Given the description of an element on the screen output the (x, y) to click on. 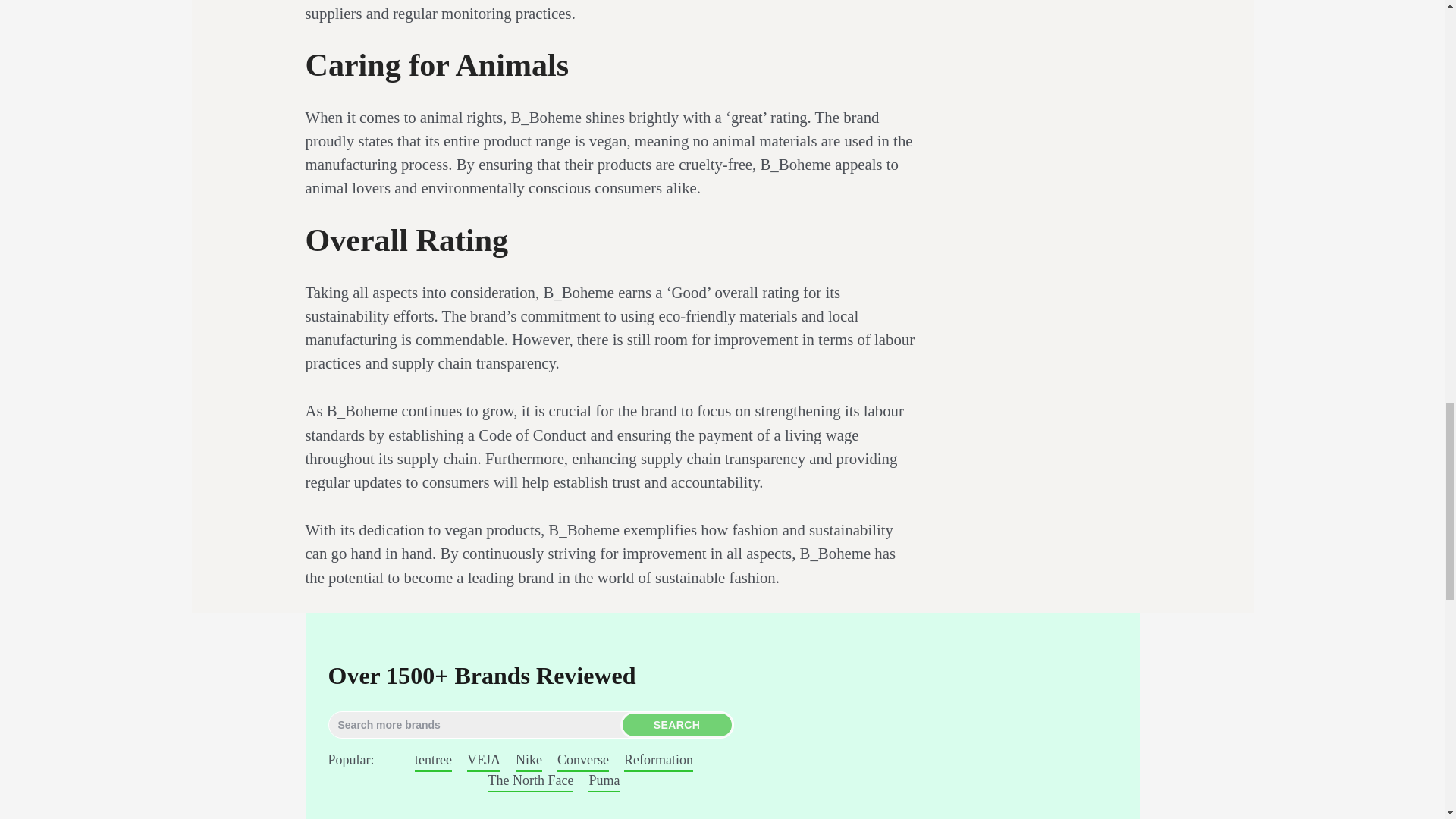
VEJA (483, 760)
Reformation (658, 760)
Nike (528, 760)
SEARCH (676, 724)
Puma (604, 780)
tentree (432, 760)
SEARCH (676, 724)
SEARCH (676, 724)
Converse (582, 760)
The North Face (530, 780)
